Given the description of an element on the screen output the (x, y) to click on. 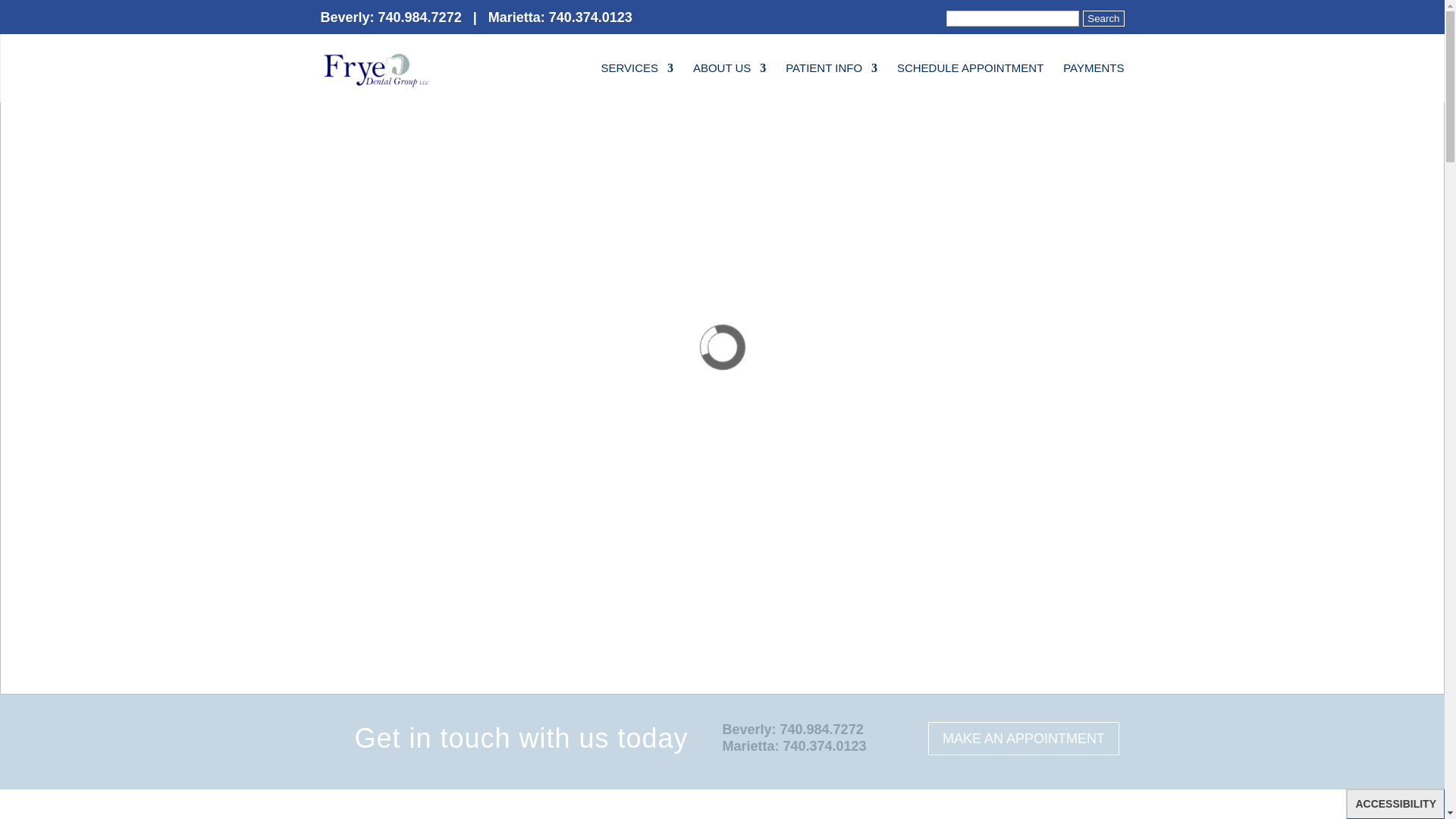
PATIENT INFO (831, 82)
SCHEDULE APPOINTMENT (969, 82)
SERVICES (635, 82)
Search (1103, 18)
PAYMENTS (1093, 82)
Search (1103, 18)
ABOUT US (729, 82)
